Given the description of an element on the screen output the (x, y) to click on. 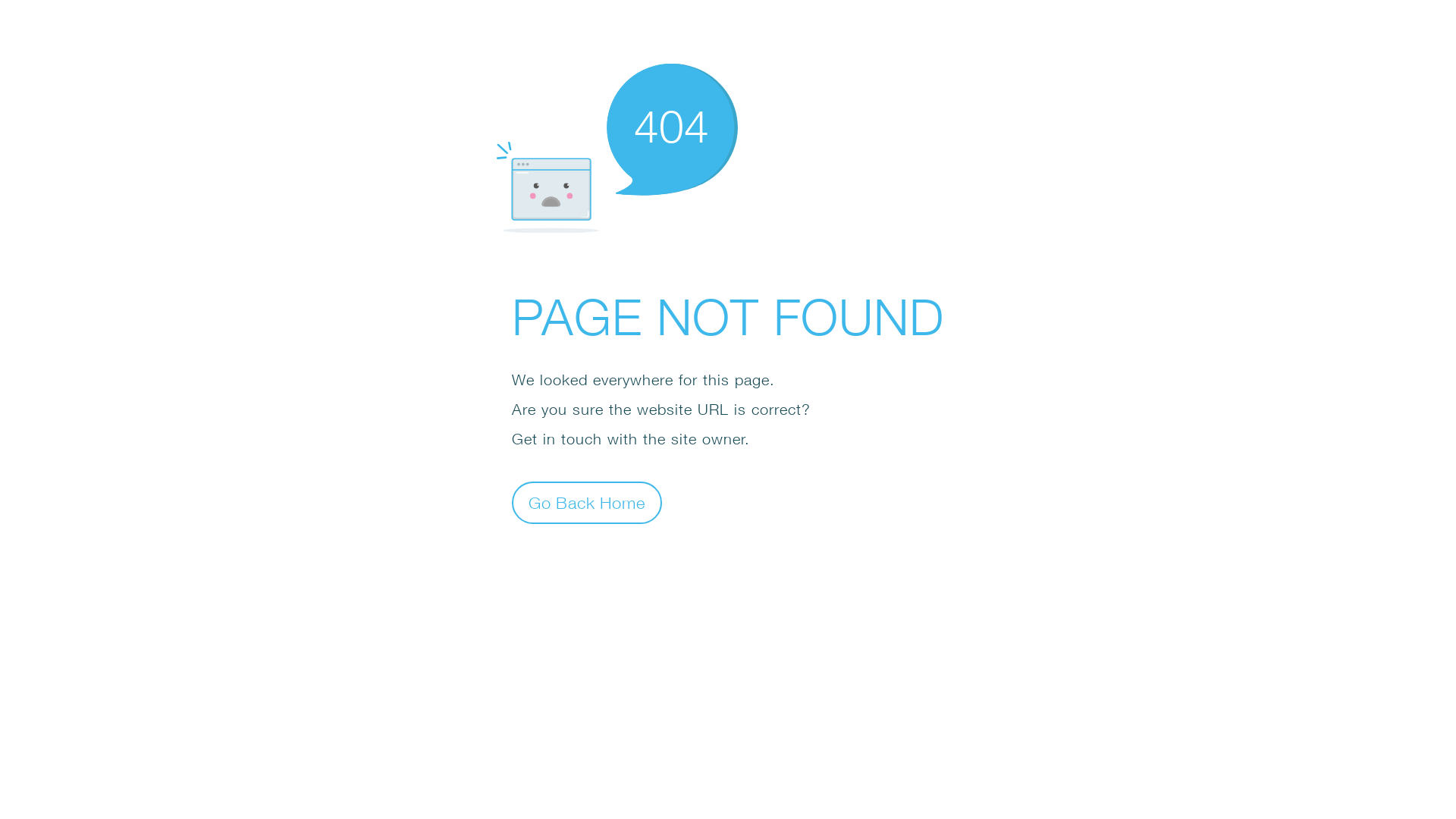
Go Back Home Element type: text (586, 502)
